Given the description of an element on the screen output the (x, y) to click on. 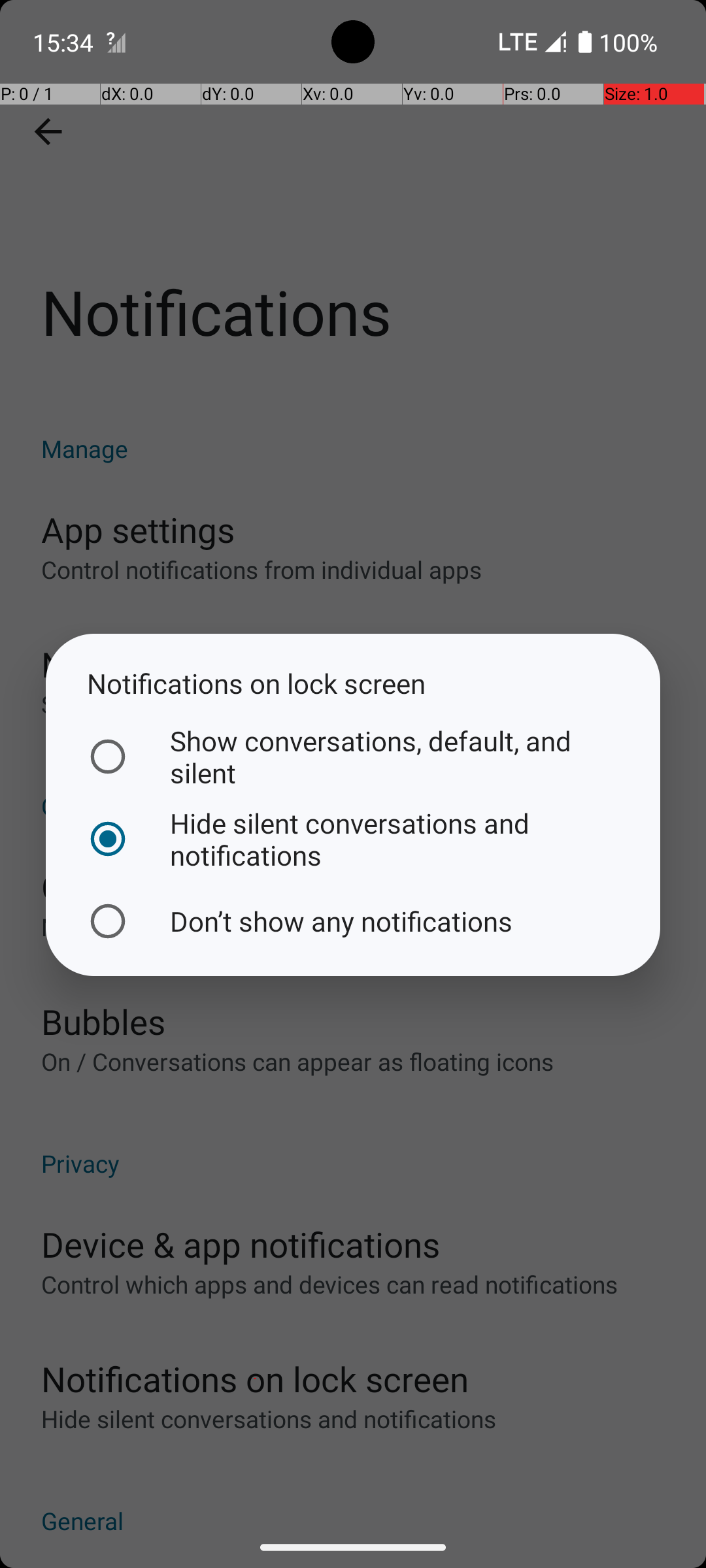
Show conversations, default, and silent Element type: android.widget.CheckedTextView (349, 756)
Don’t show any notifications Element type: android.widget.CheckedTextView (349, 920)
